Given the description of an element on the screen output the (x, y) to click on. 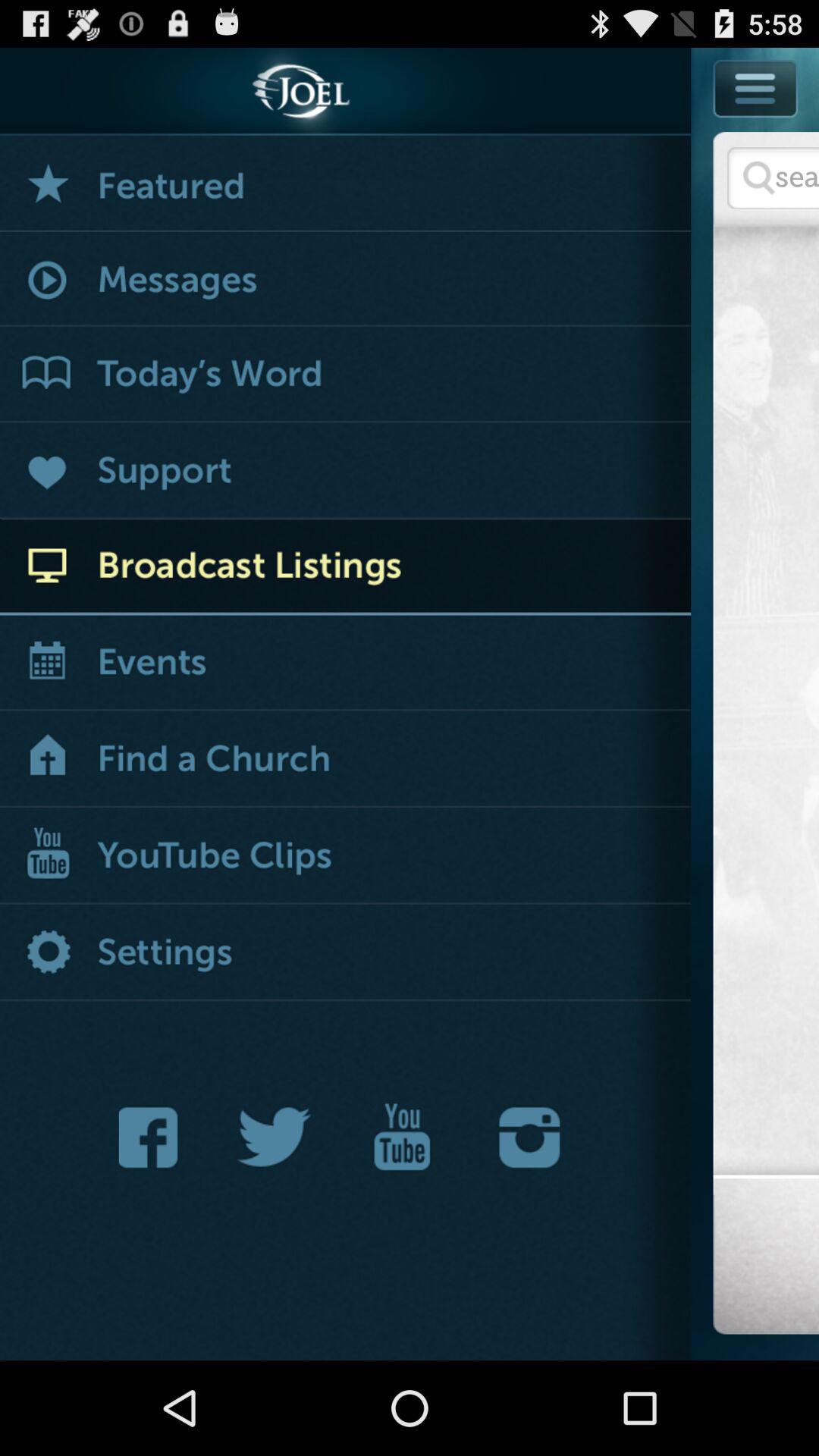
view settings (345, 953)
